Given the description of an element on the screen output the (x, y) to click on. 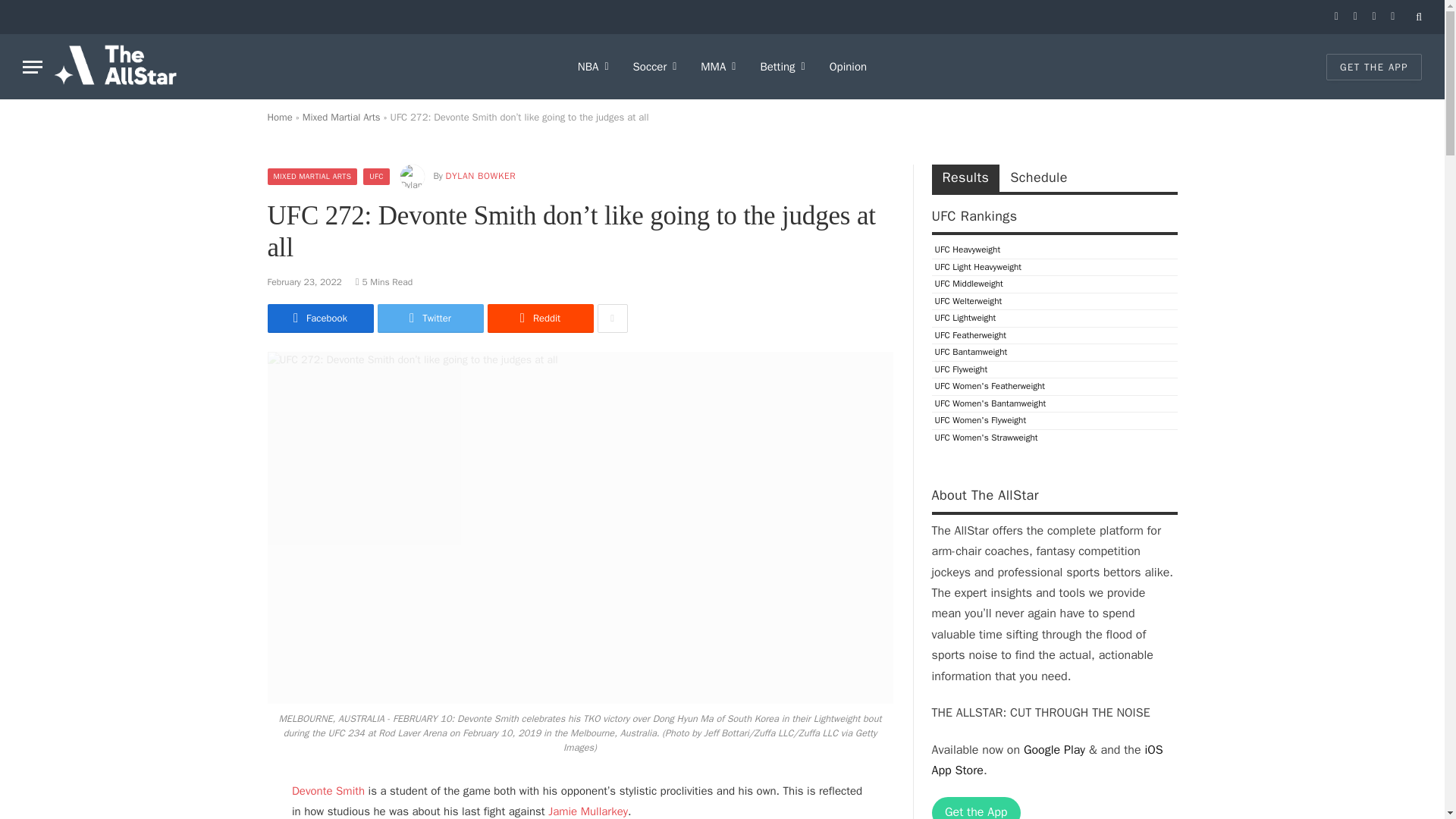
The AllStar (114, 66)
